Given the description of an element on the screen output the (x, y) to click on. 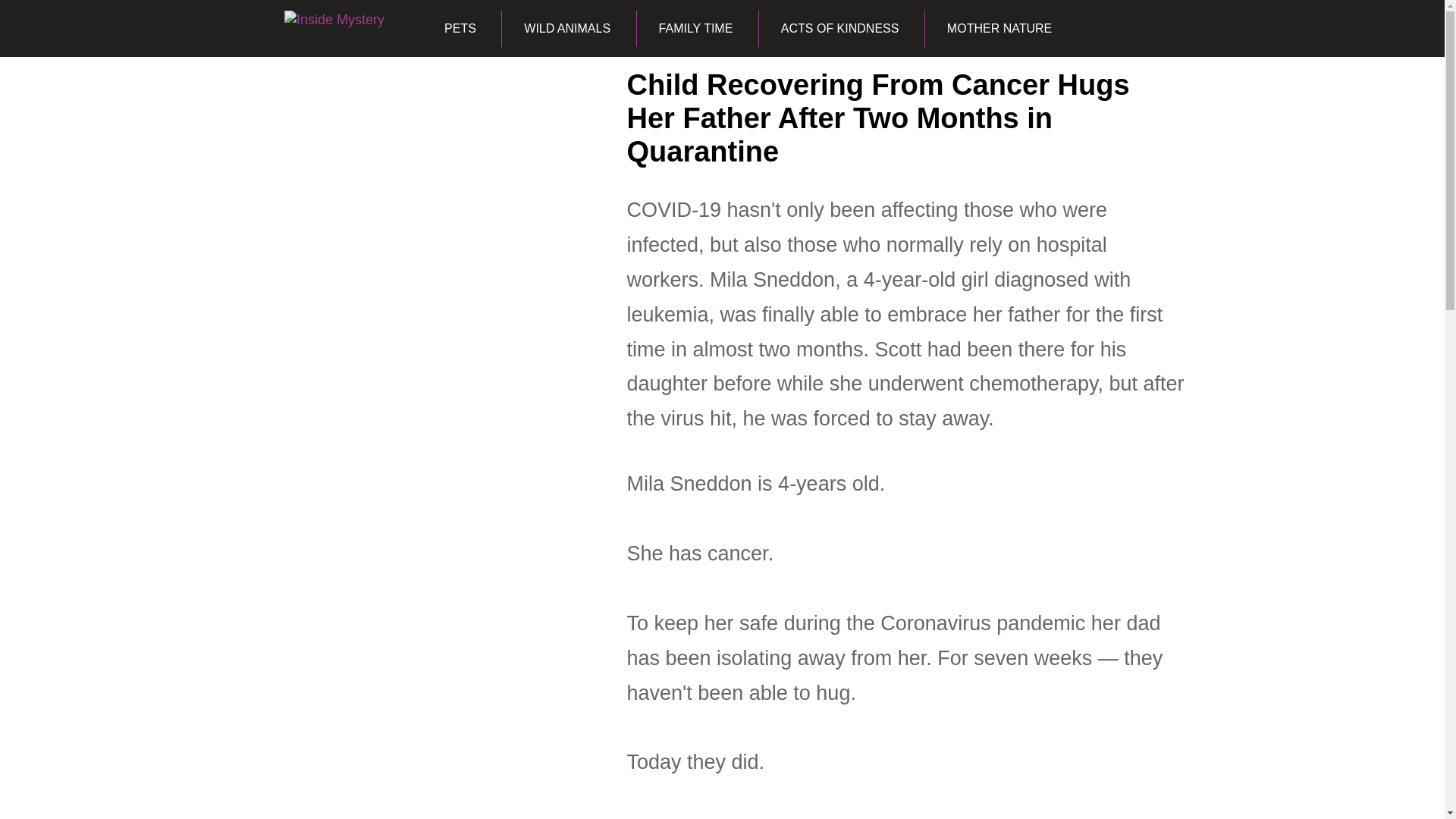
MOTHER NATURE (999, 28)
WILD ANIMALS (565, 28)
PETS (459, 28)
FAMILY TIME (695, 28)
ACTS OF KINDNESS (839, 28)
